Given the description of an element on the screen output the (x, y) to click on. 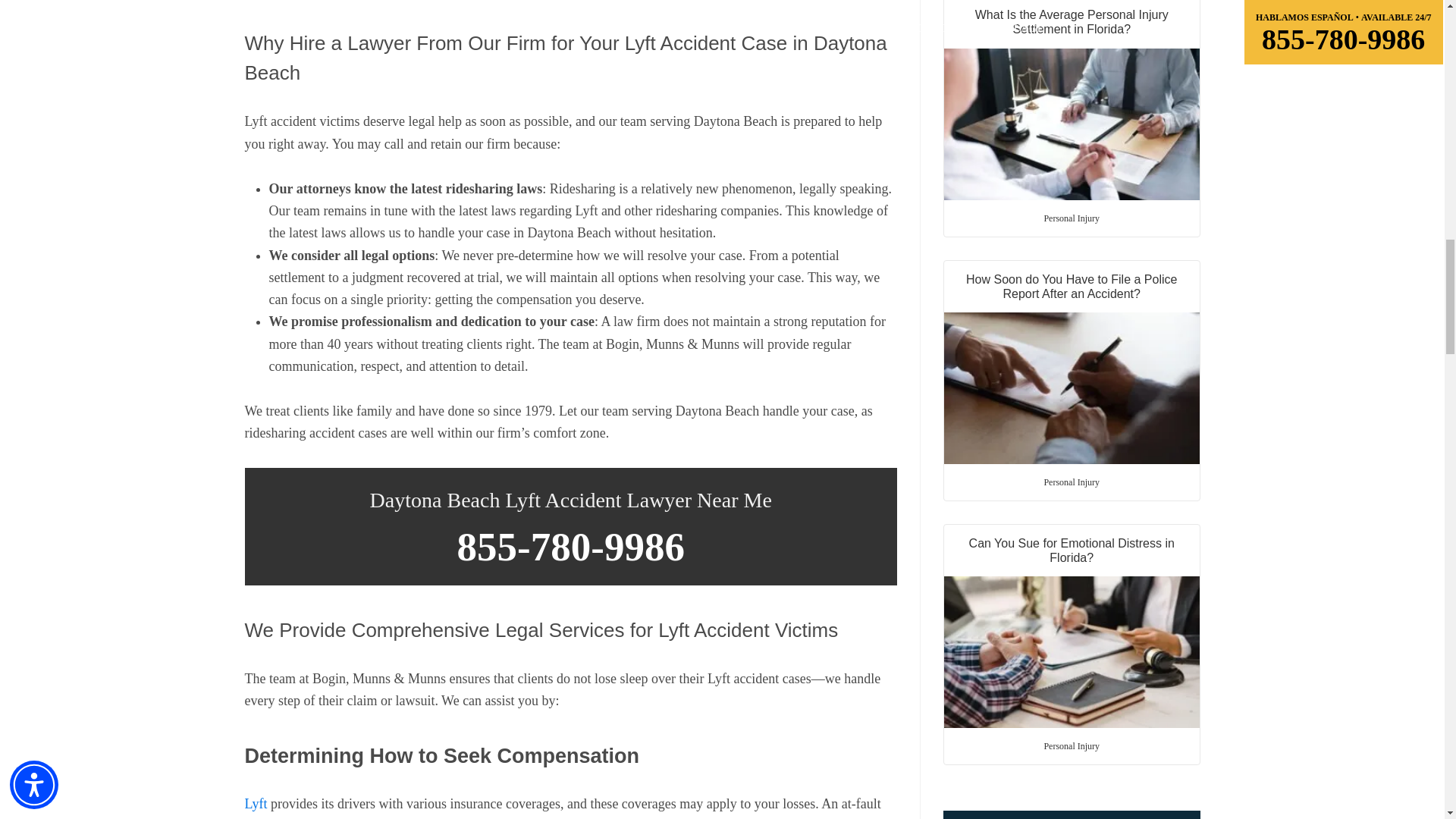
Can You Sue for Emotional Distress in Florida? (1071, 626)
What Is the Average Personal Injury Settlement in Florida? (1071, 99)
What Is the Average Personal Injury Settlement in Florida? (1071, 123)
Can You Sue for Emotional Distress in Florida? (1071, 652)
